Given the description of an element on the screen output the (x, y) to click on. 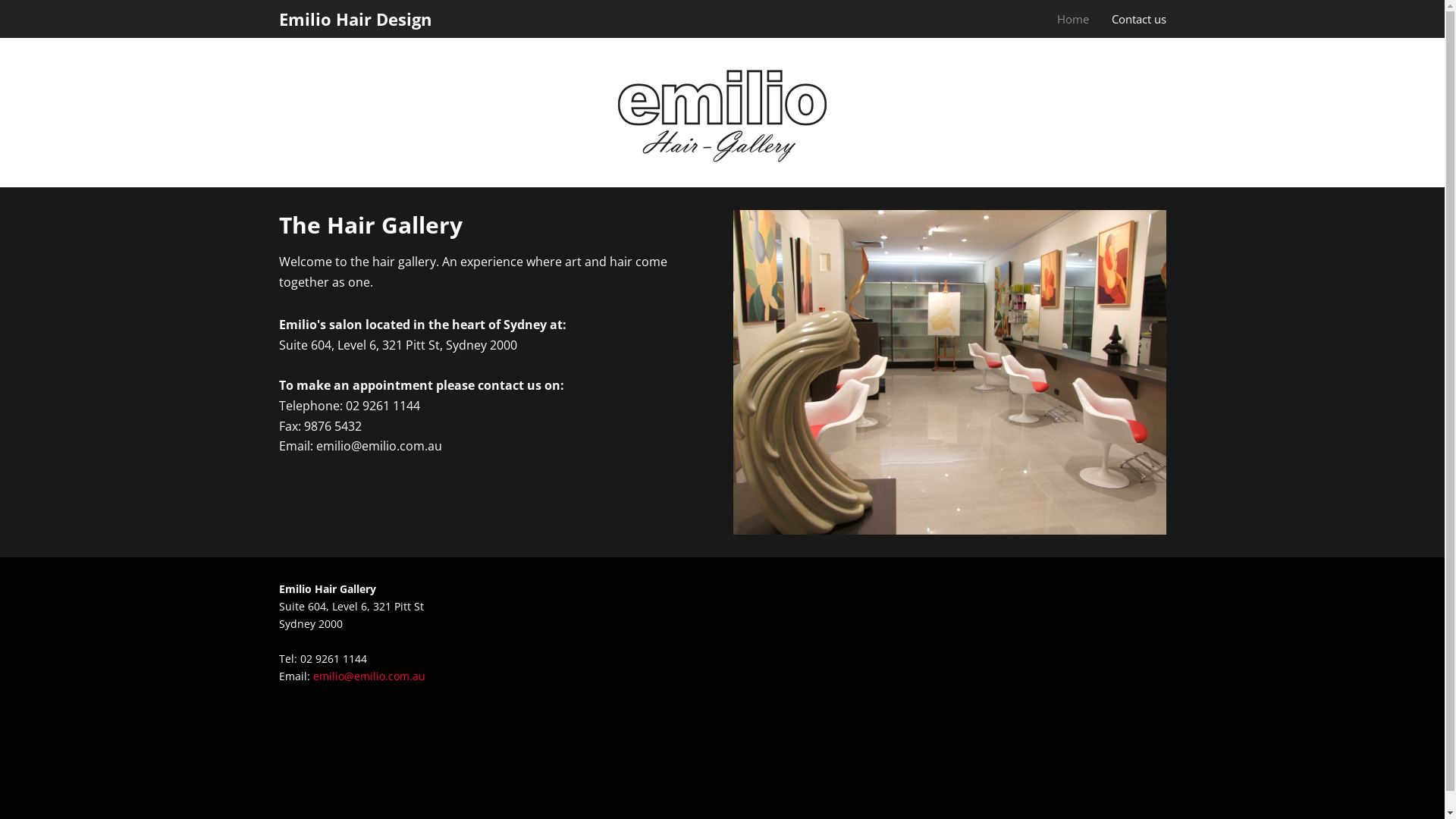
emilio@emilio.com.au Element type: text (368, 675)
Home Element type: text (1084, 18)
Emilio Hair Design Element type: text (355, 18)
Contact us Element type: text (1138, 18)
